Given the description of an element on the screen output the (x, y) to click on. 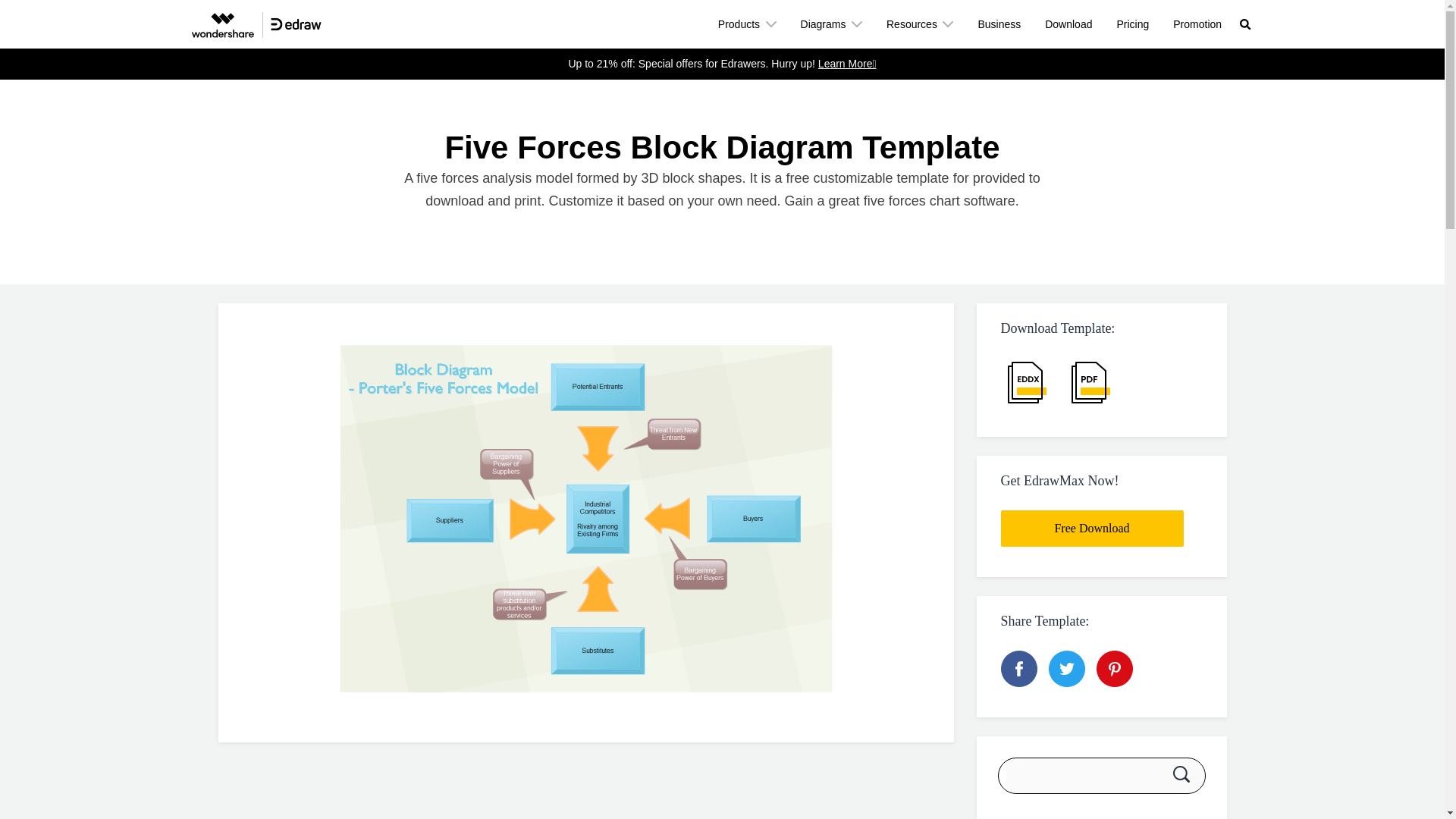
Products (747, 24)
Diagrams (832, 24)
